Given the description of an element on the screen output the (x, y) to click on. 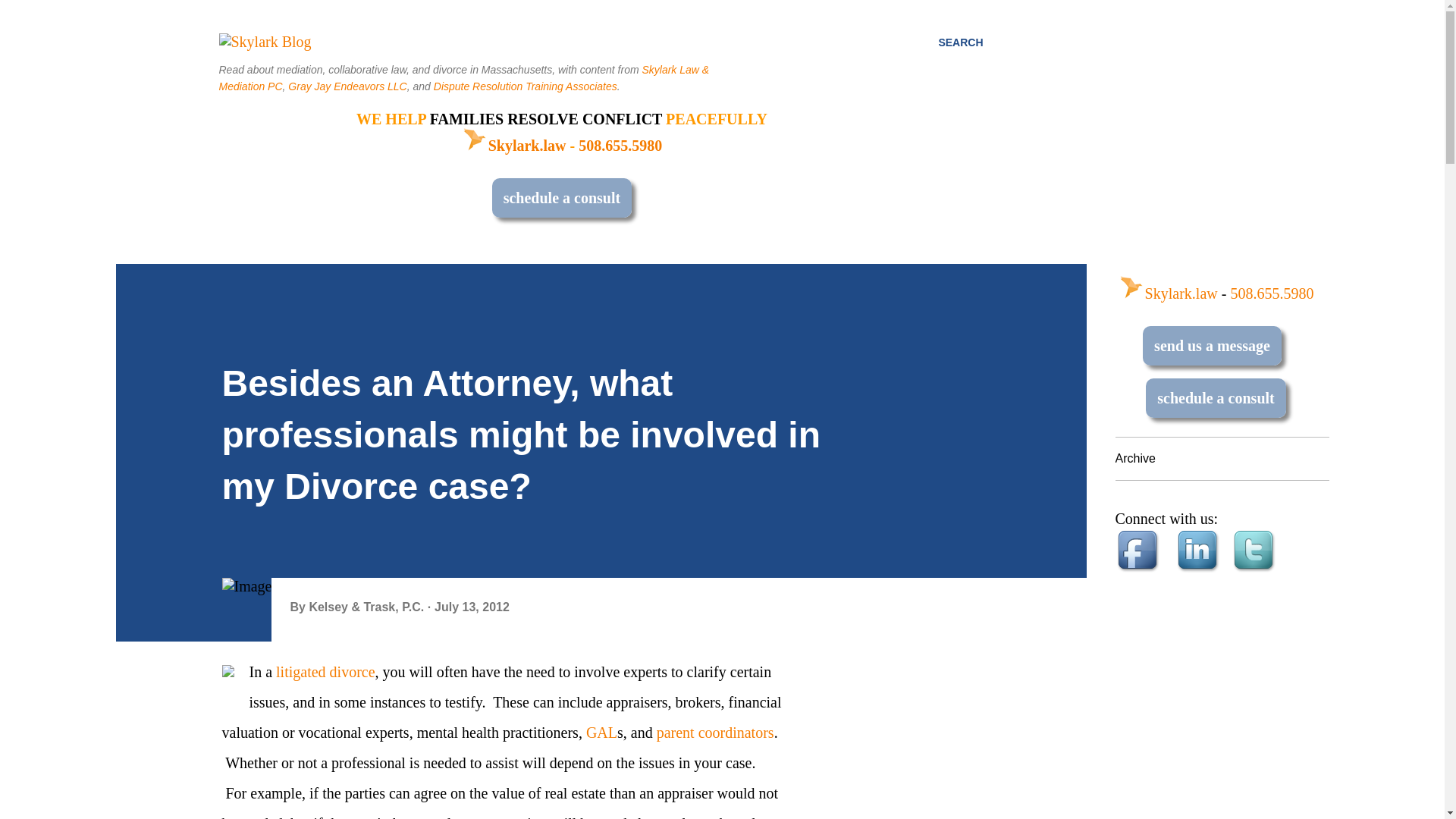
Home (513, 145)
SEARCH (959, 42)
GAL (601, 732)
Gray Jay Endeavors LLC (347, 86)
author profile (367, 606)
parent coordinators (715, 732)
permanent link (471, 606)
litigated divorce (325, 671)
Skylark.law (513, 145)
Dispute Resolution Training Associates (525, 86)
508.655.5980 (620, 145)
July 13, 2012 (471, 606)
schedule a consult (561, 197)
